Given the description of an element on the screen output the (x, y) to click on. 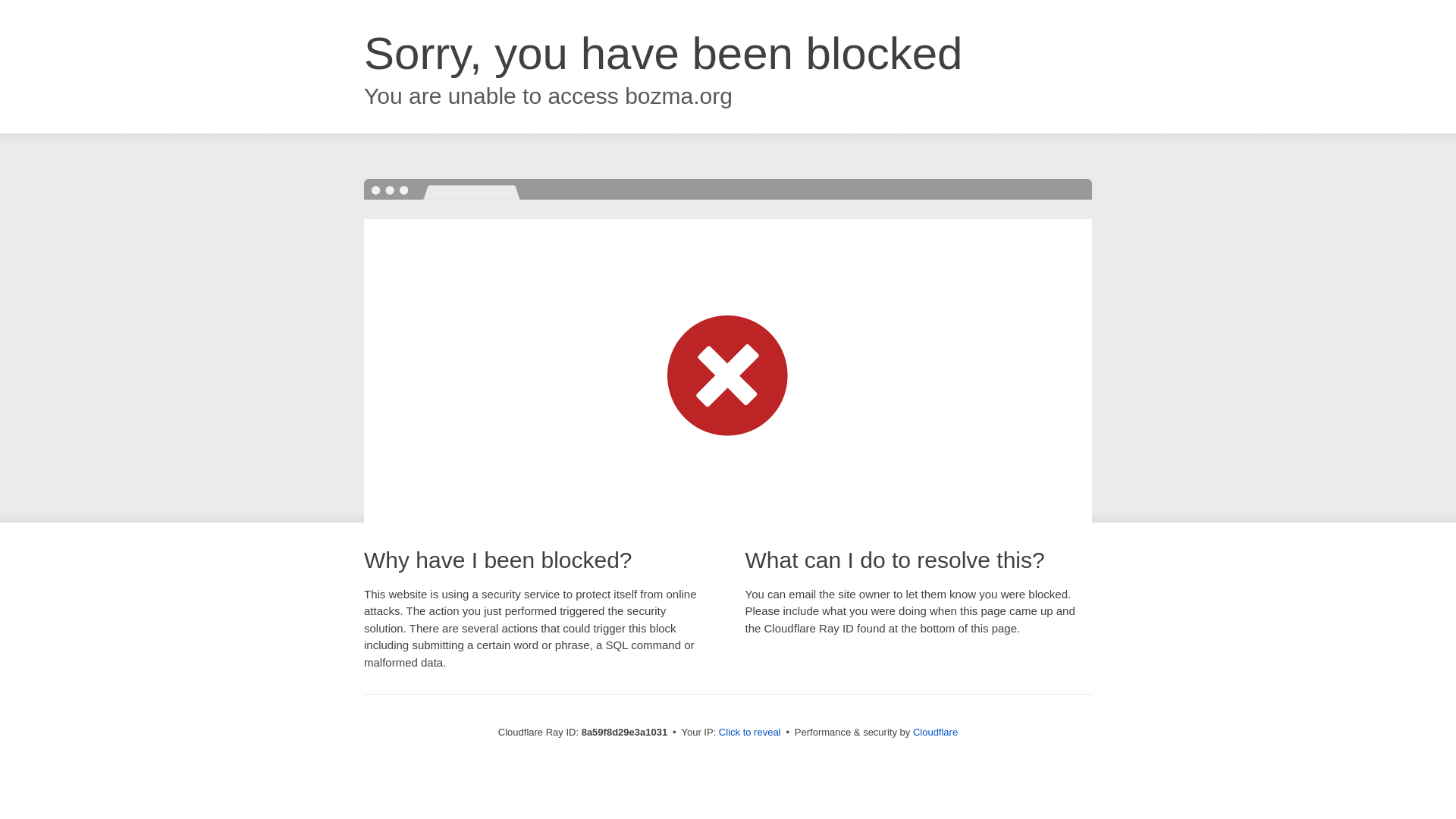
Click to reveal (749, 732)
Cloudflare (935, 731)
